Given the description of an element on the screen output the (x, y) to click on. 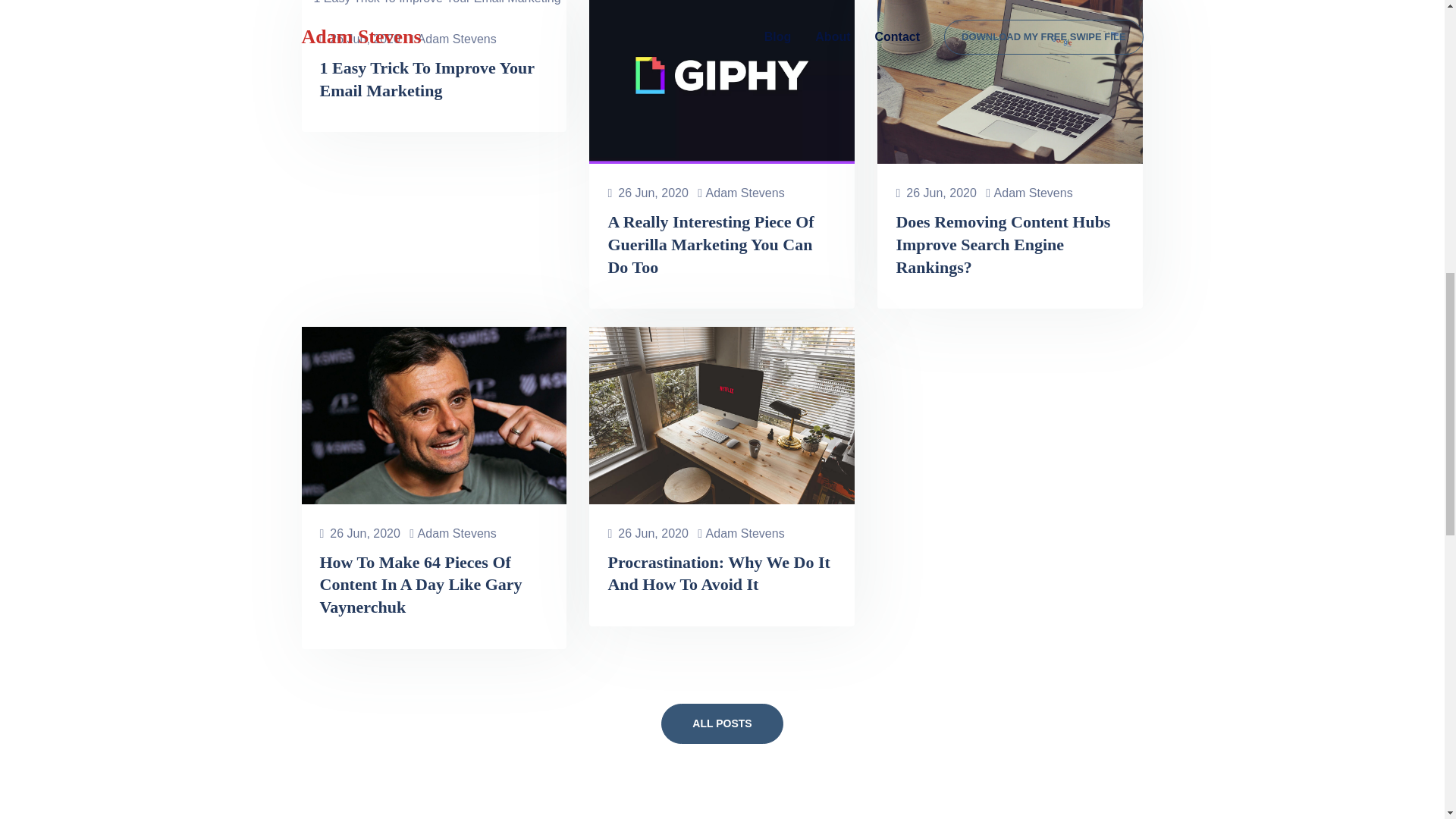
Procrastination: Why We Do It And How To Avoid It (718, 573)
ALL POSTS (722, 723)
Does Removing Content Hubs Improve Search Engine Rankings? (1002, 244)
1 Easy Trick To Improve Your Email Marketing (427, 78)
